Given the description of an element on the screen output the (x, y) to click on. 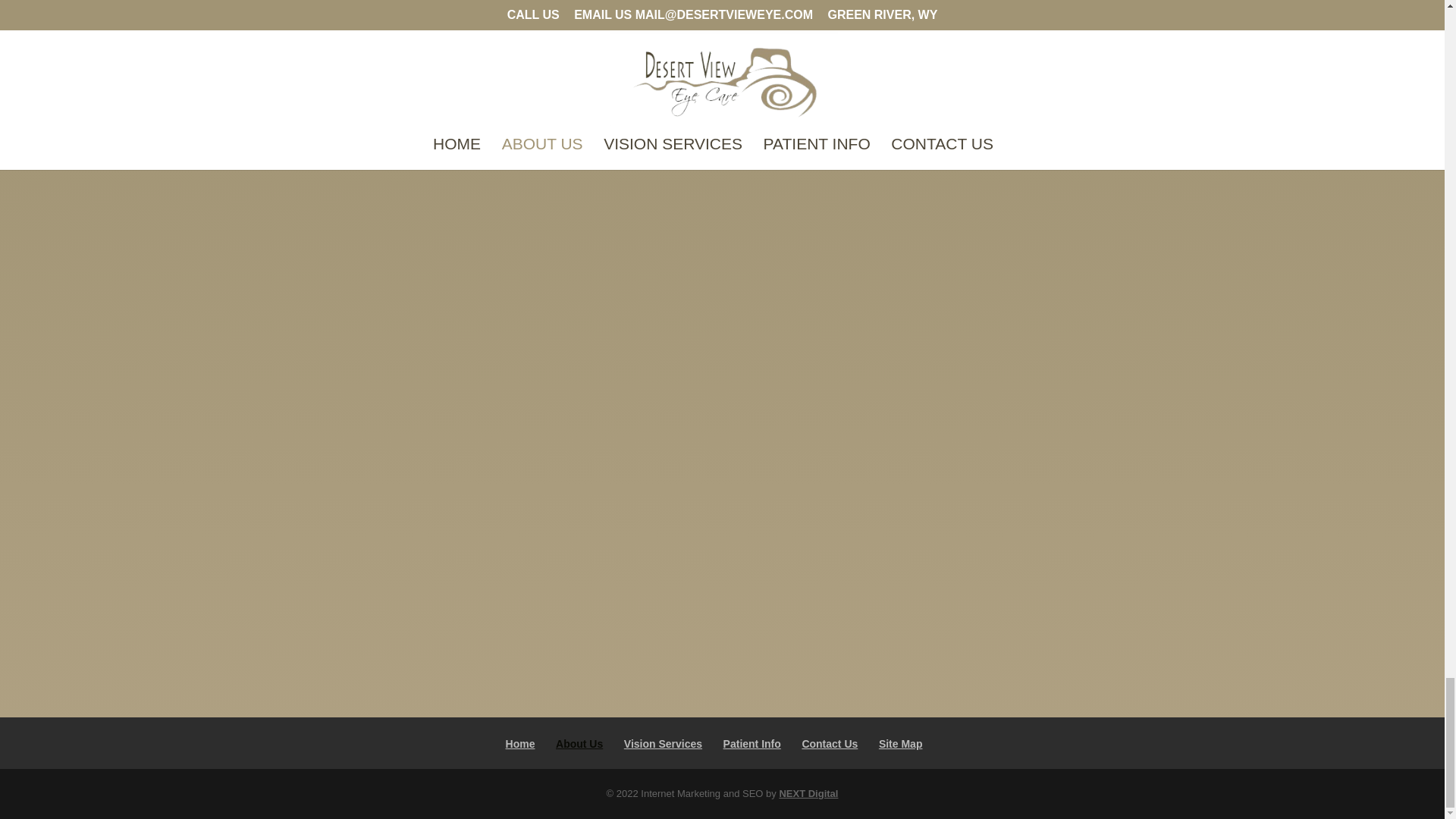
About Us (579, 743)
NEXT Digital (808, 793)
Site Map (901, 743)
Home (520, 743)
Patient Info (751, 743)
Contact Us (829, 743)
Vision Services (662, 743)
